Given the description of an element on the screen output the (x, y) to click on. 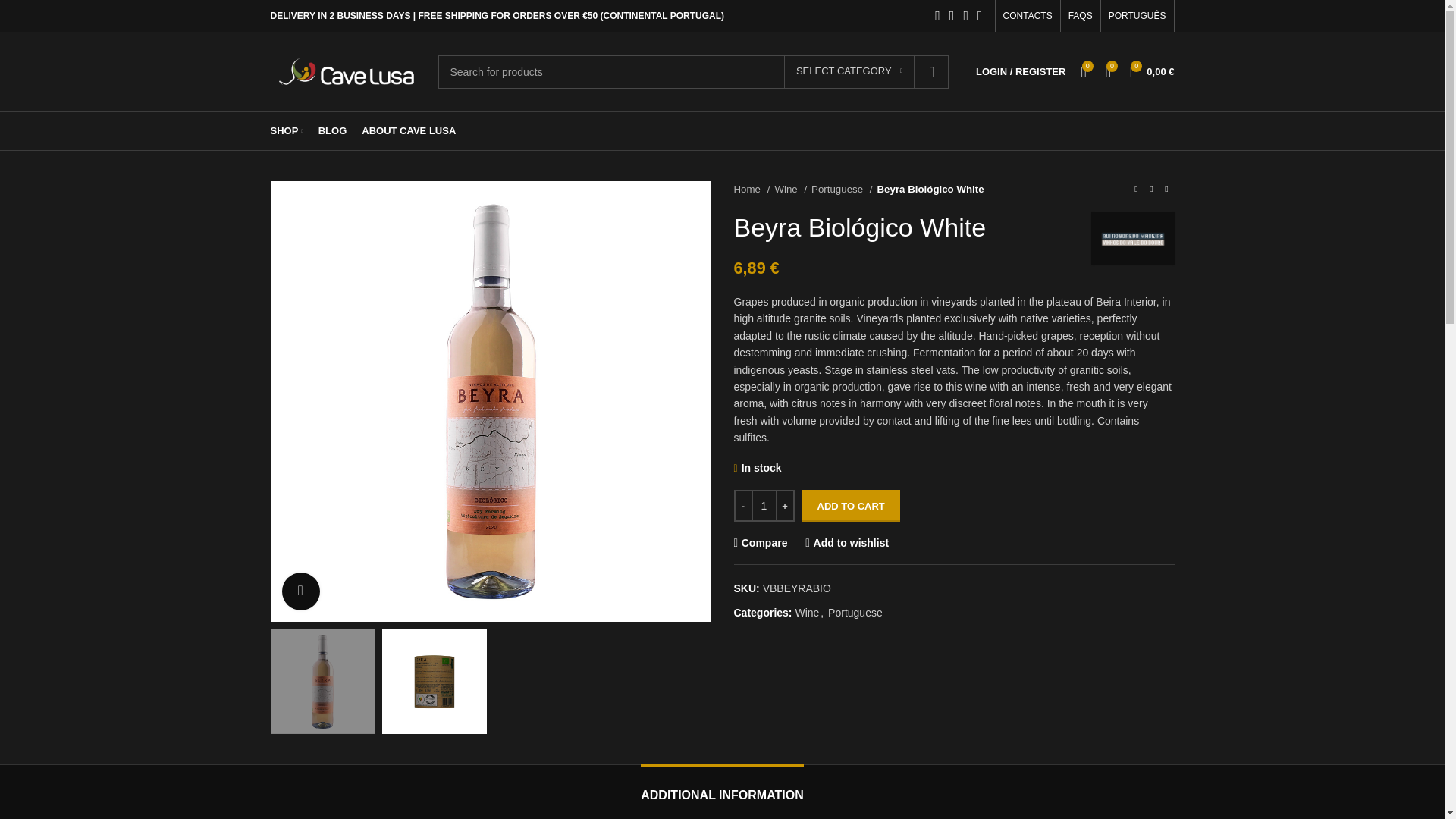
SELECT CATEGORY (849, 71)
Shopping cart (1151, 71)
SELECT CATEGORY (849, 71)
Search for products (692, 71)
My account (1020, 71)
Rui Roboredo Madeira (1131, 238)
CONTACTS (1027, 15)
